Given the description of an element on the screen output the (x, y) to click on. 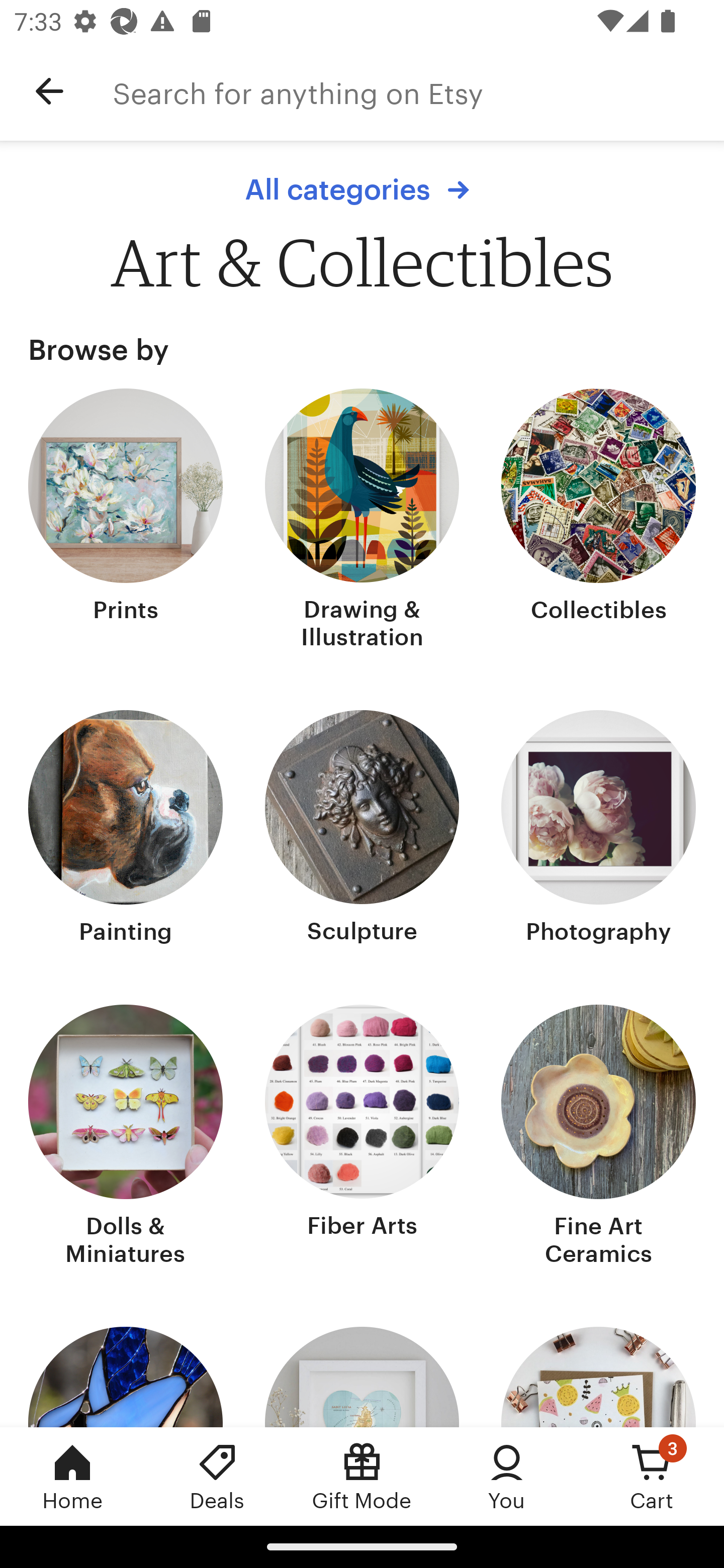
Navigate up (49, 91)
Search for anything on Etsy (418, 91)
All categories (361, 189)
Prints (125, 520)
Drawing & Illustration (361, 520)
Collectibles (598, 520)
Painting (125, 829)
Sculpture (361, 829)
Photography (598, 829)
Dolls & Miniatures (125, 1137)
Fiber Arts (361, 1137)
Fine Art Ceramics (598, 1137)
Deals (216, 1475)
Gift Mode (361, 1475)
You (506, 1475)
Cart, 3 new notifications Cart (651, 1475)
